Given the description of an element on the screen output the (x, y) to click on. 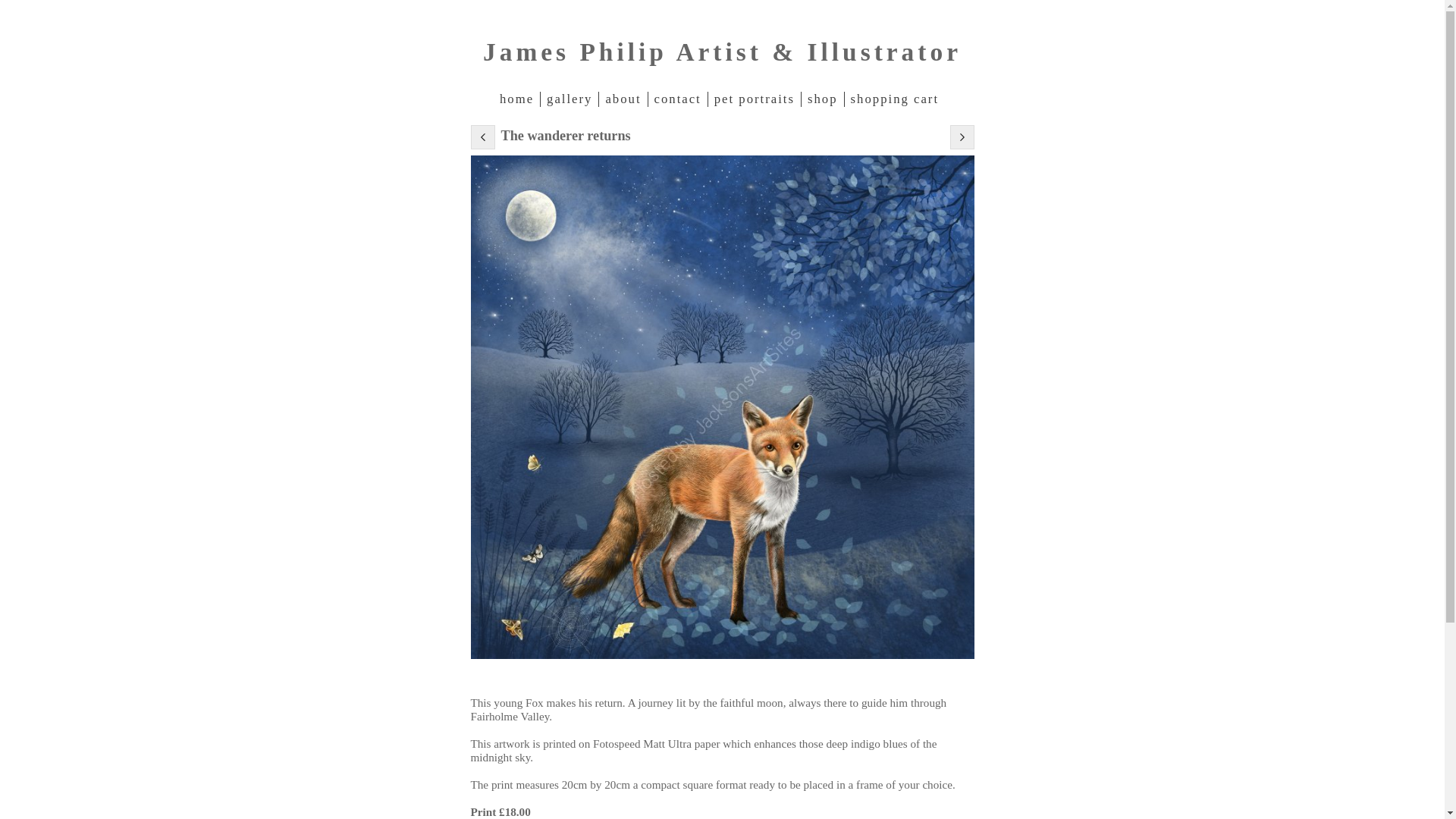
contact (677, 99)
pet portraits (753, 99)
about (622, 99)
home (519, 99)
gallery (569, 99)
shop (822, 99)
shopping cart (894, 99)
